Given the description of an element on the screen output the (x, y) to click on. 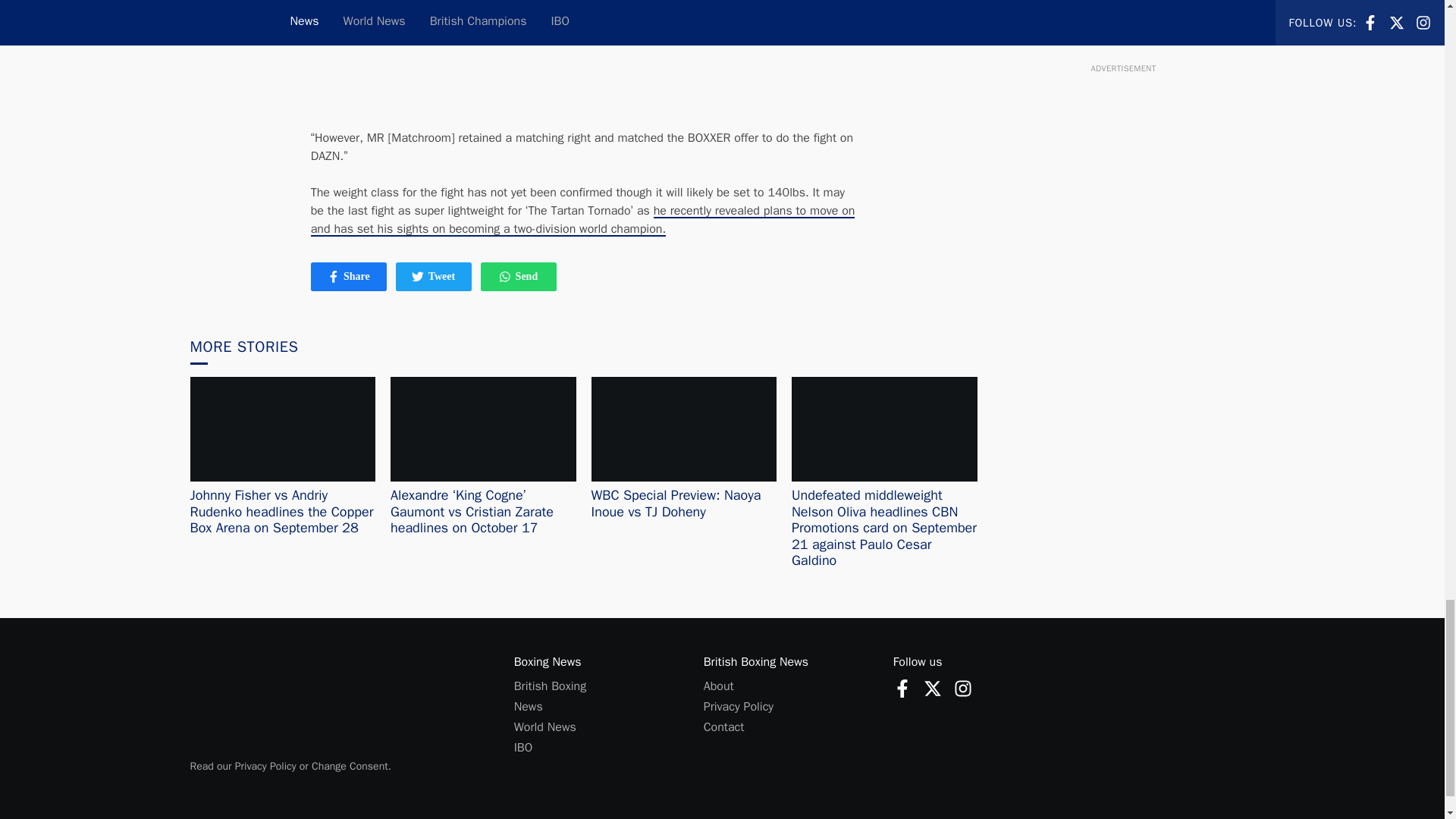
Contact (723, 726)
IBO (522, 747)
World News (518, 276)
Privacy Policy (544, 726)
British Boxing (738, 706)
Twitter (962, 687)
Change Consent (549, 685)
